Given the description of an element on the screen output the (x, y) to click on. 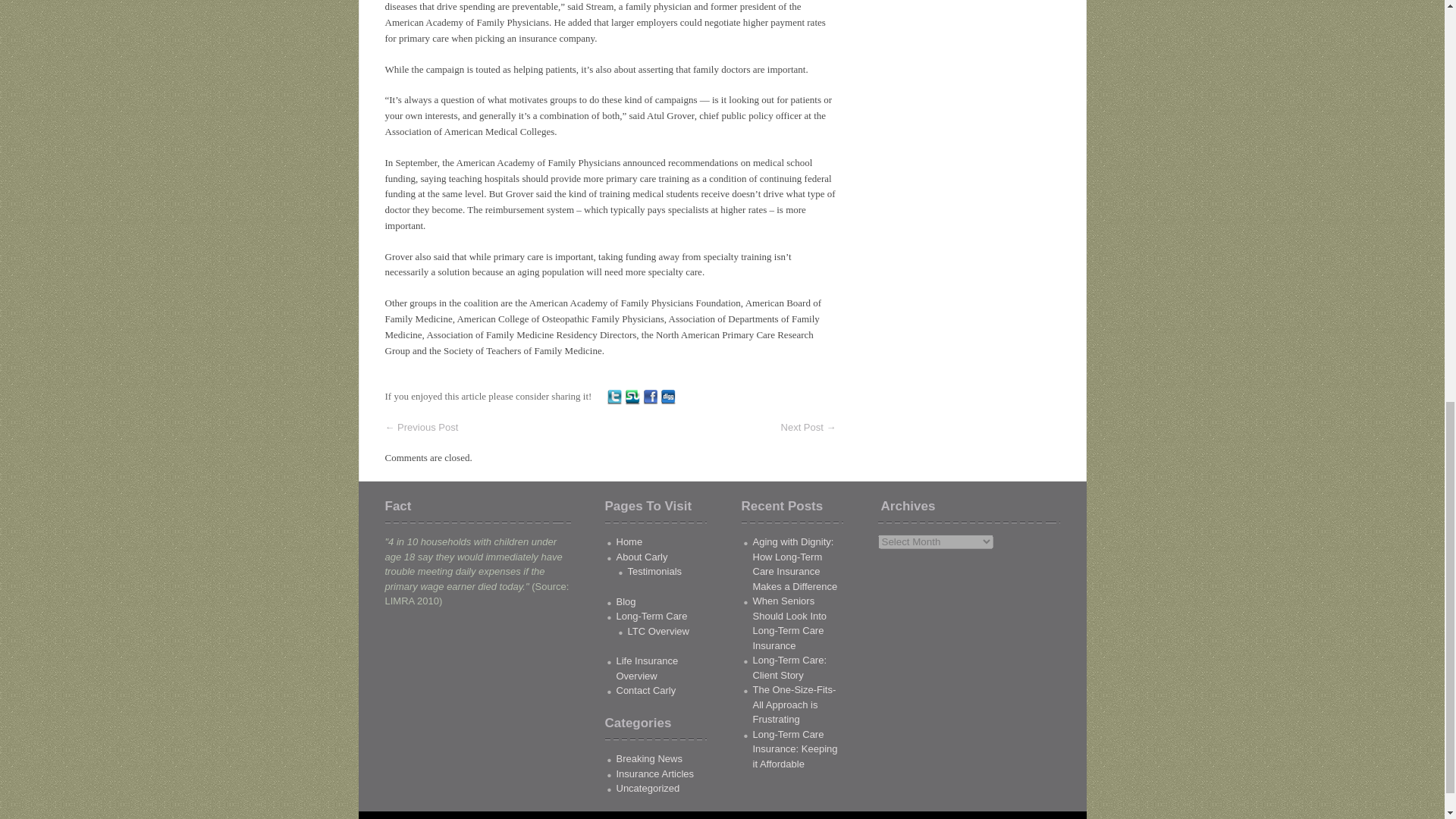
Share on StumbleUpon! (632, 396)
facebook (650, 396)
Tweet this! (614, 396)
LTC Overview (657, 631)
digg (668, 396)
upon (632, 396)
Testimonials (654, 571)
Digg This! (668, 396)
Contact Carly (645, 690)
twitter (614, 396)
Share on Facebook (650, 396)
Breaking News (648, 758)
Insurance Articles (654, 773)
Long-Term Care (651, 615)
About Carly (640, 556)
